Given the description of an element on the screen output the (x, y) to click on. 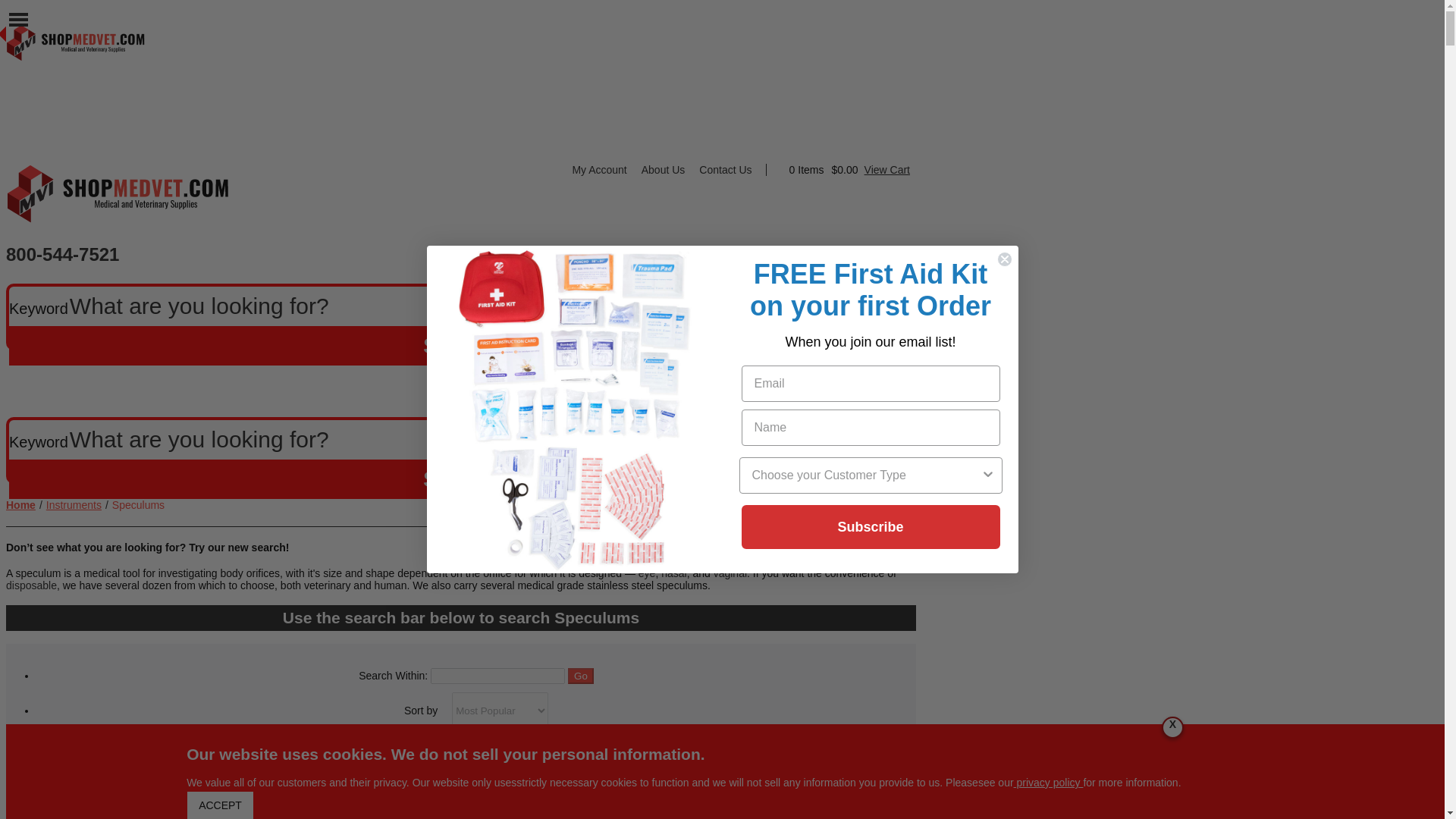
Go (580, 675)
Close dialog 1 (1003, 258)
Search (460, 345)
Search (460, 478)
Search (460, 478)
Search (460, 345)
